Given the description of an element on the screen output the (x, y) to click on. 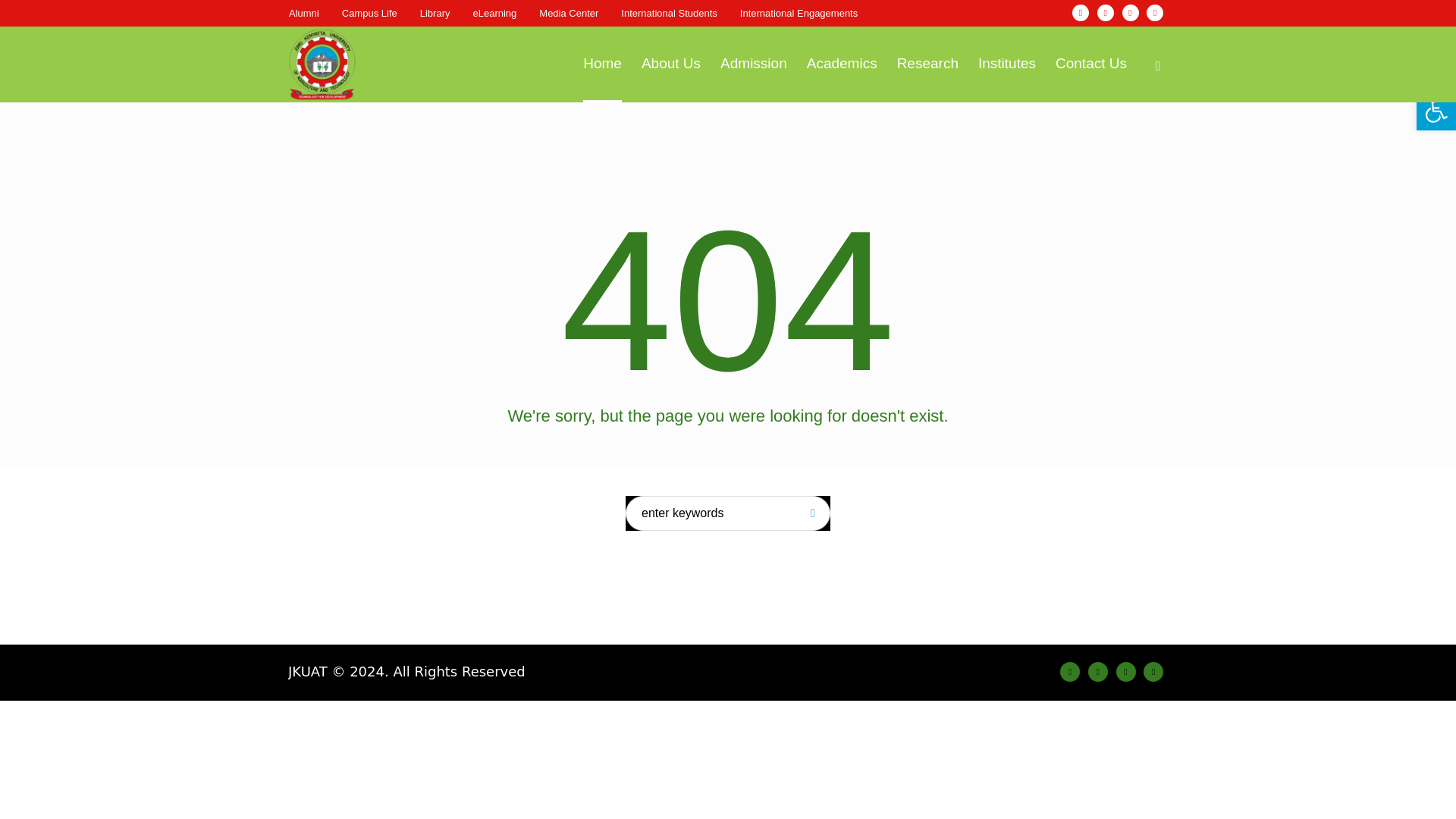
Accessibility Tools (1435, 110)
International Engagements (798, 12)
Facebook (1080, 12)
YouTube (1155, 12)
Instagram (1105, 12)
Media Center (568, 12)
International Students (668, 12)
Library (434, 12)
Campus Life (369, 12)
eLearning (493, 12)
About Us (670, 64)
Instagram (1097, 671)
YouTube (1152, 671)
Twitter (1130, 12)
Facebook (1069, 671)
